Given the description of an element on the screen output the (x, y) to click on. 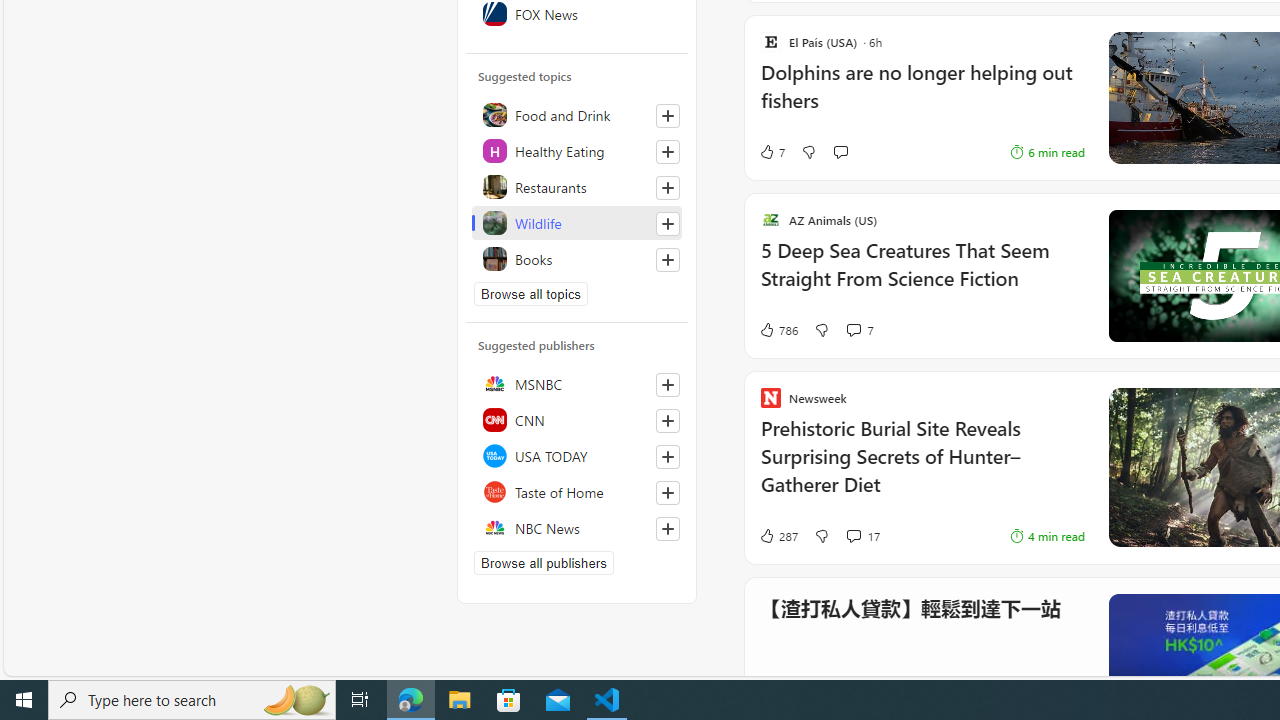
786 Like (778, 330)
Wildlife (577, 222)
USA TODAY (577, 456)
287 Like (778, 536)
View comments 17 Comment (852, 536)
Follow this source (667, 528)
Restaurants (577, 186)
7 Like (771, 151)
Browse all publishers (543, 562)
NBC News (577, 528)
